Given the description of an element on the screen output the (x, y) to click on. 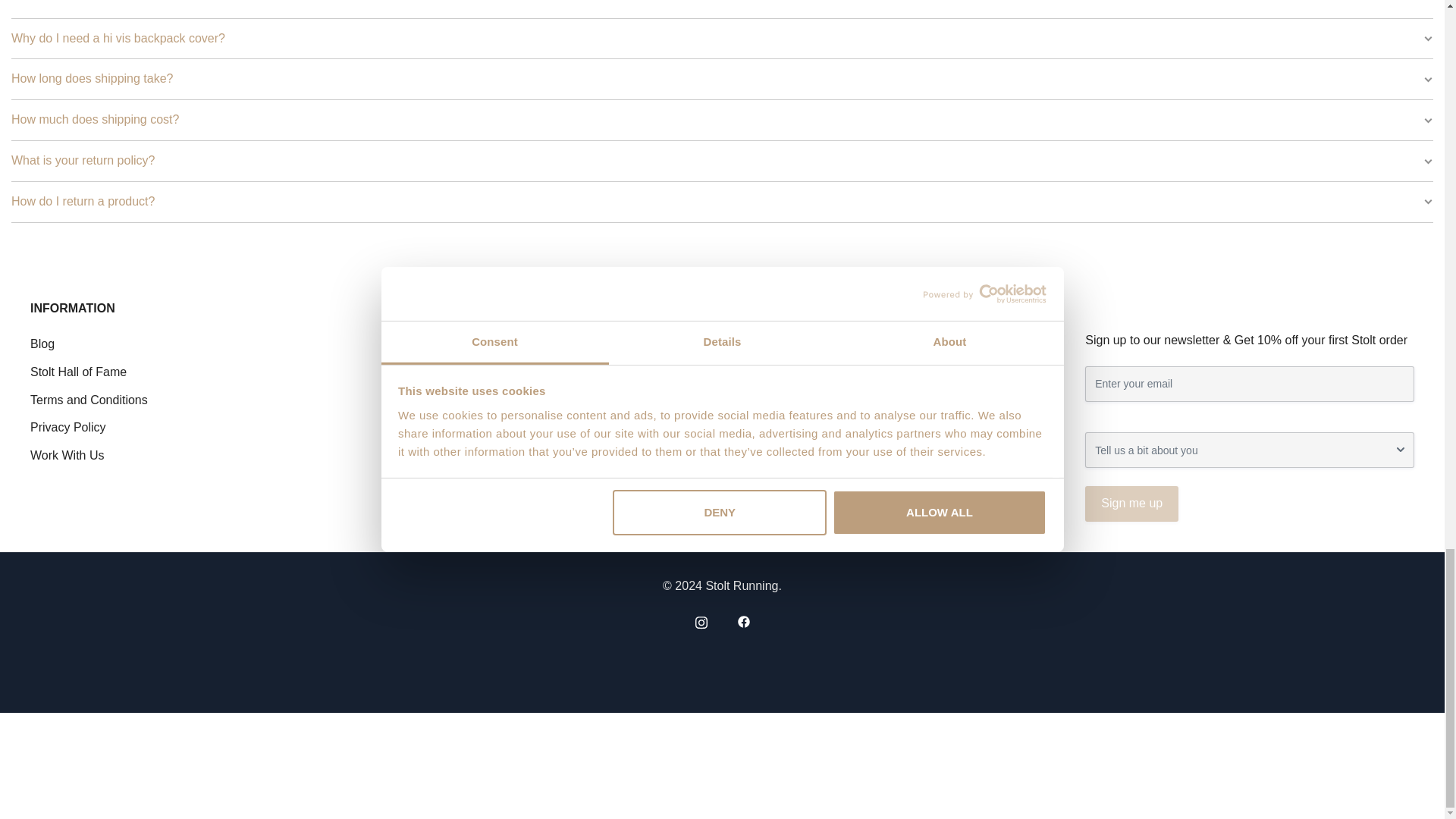
Sign me up (1130, 503)
